Given the description of an element on the screen output the (x, y) to click on. 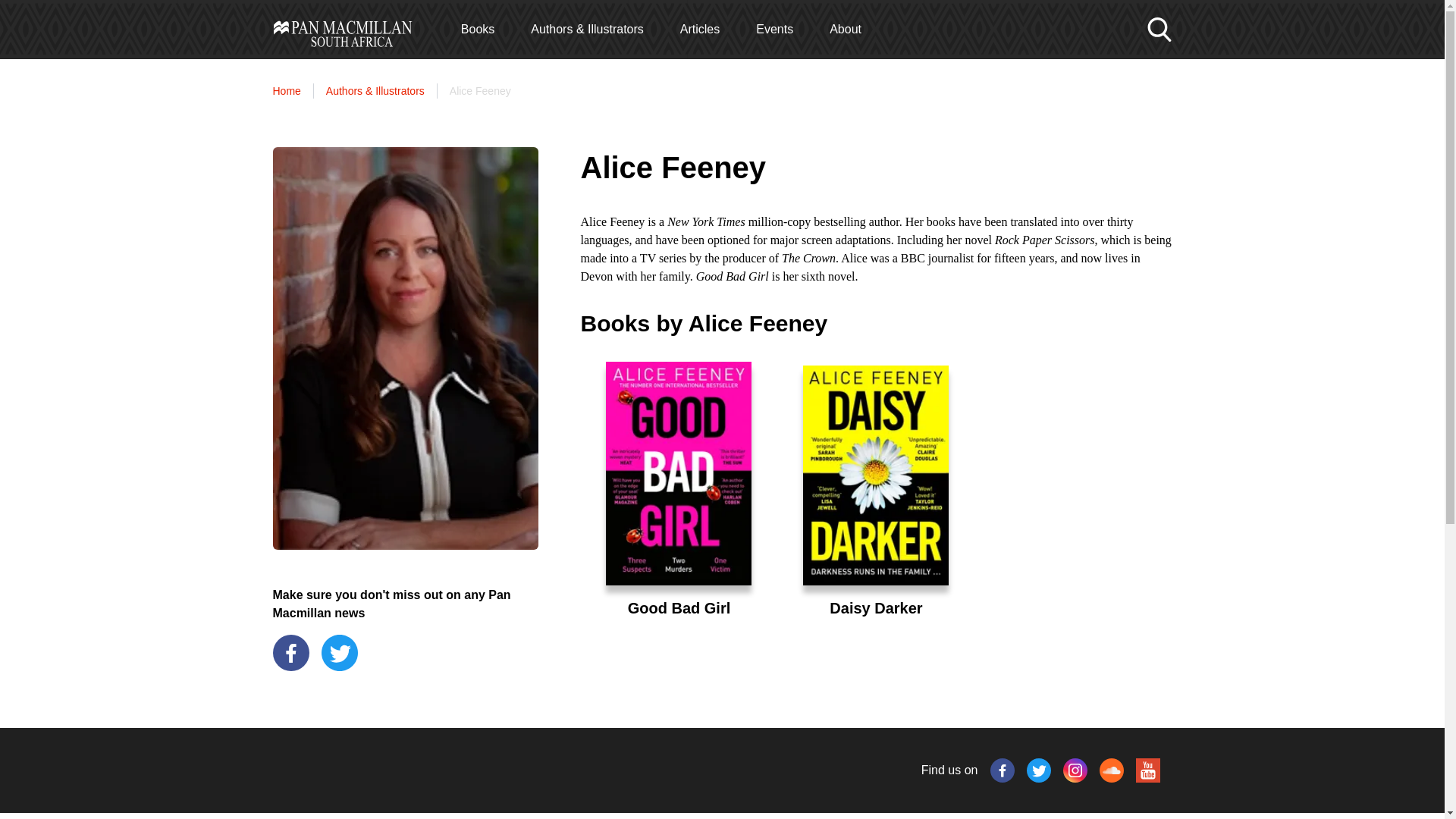
SoundCloud (1111, 770)
Books (478, 29)
Instagram (1074, 770)
YouTube (1147, 770)
Facebook (1002, 770)
Twitter (1038, 770)
